Given the description of an element on the screen output the (x, y) to click on. 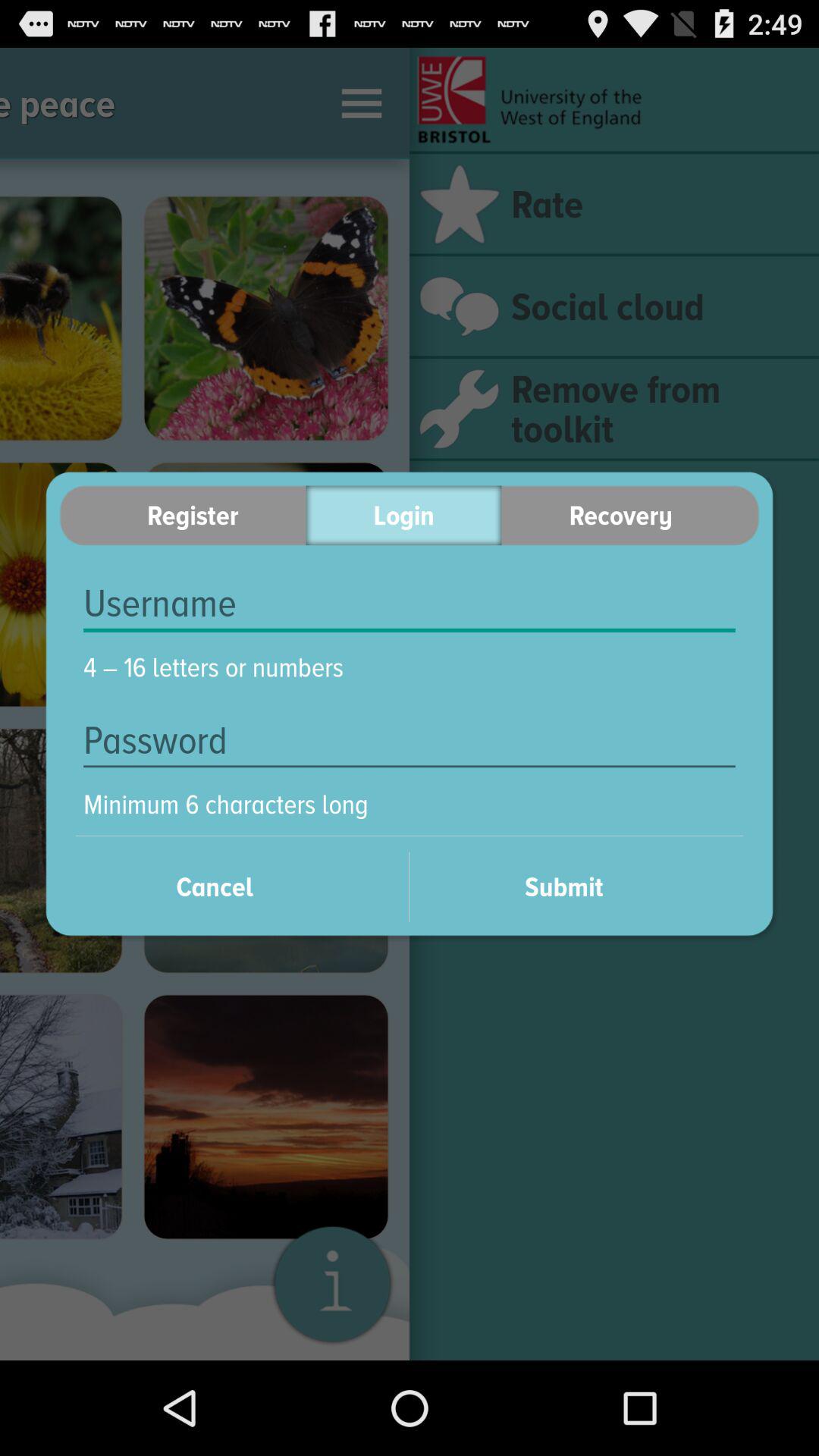
jump to the login item (403, 515)
